Given the description of an element on the screen output the (x, y) to click on. 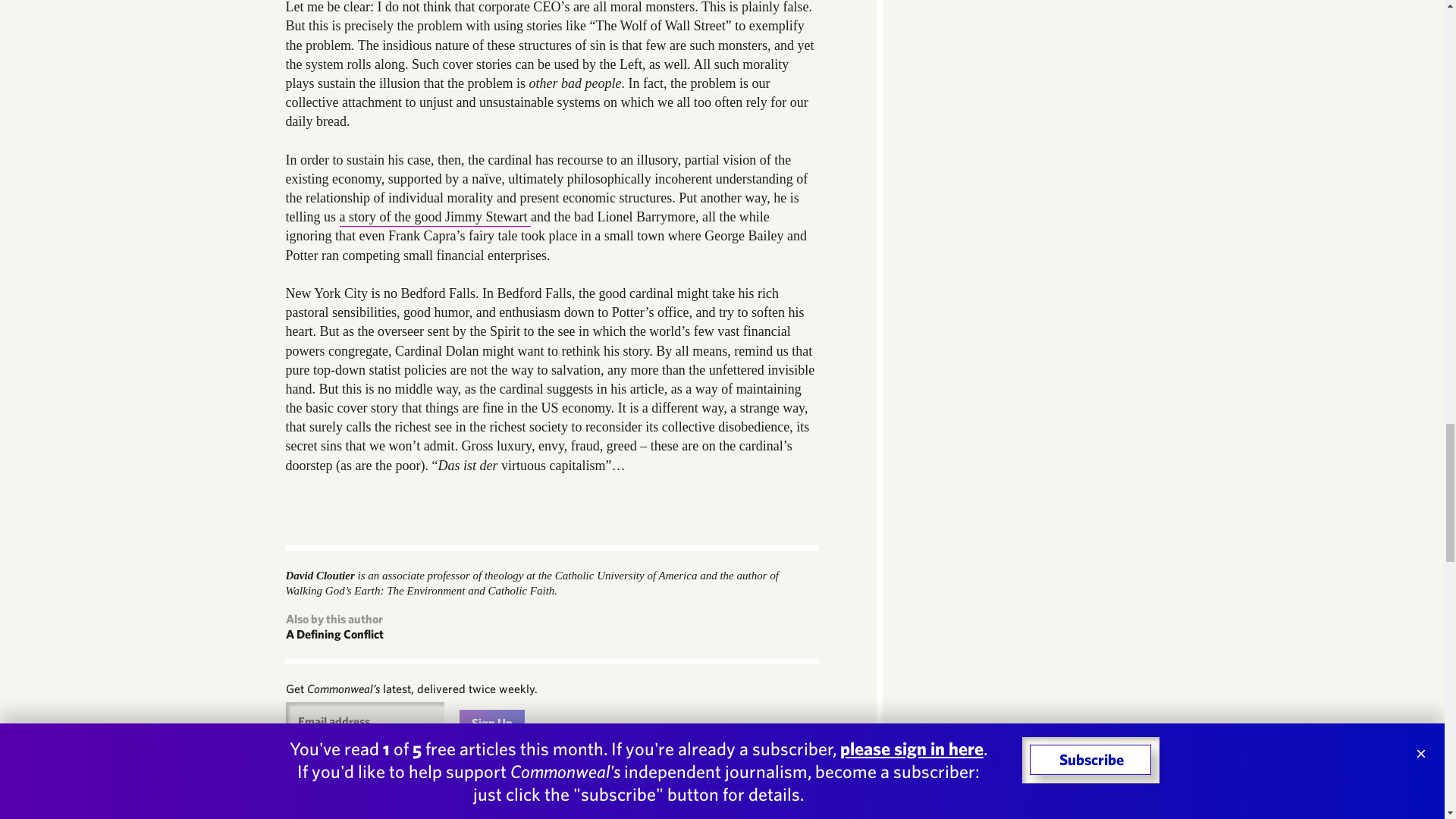
Sign Up (492, 723)
Sign Up (492, 723)
A Defining Conflict (333, 633)
a story of the good Jimmy Stewart (435, 217)
